Given the description of an element on the screen output the (x, y) to click on. 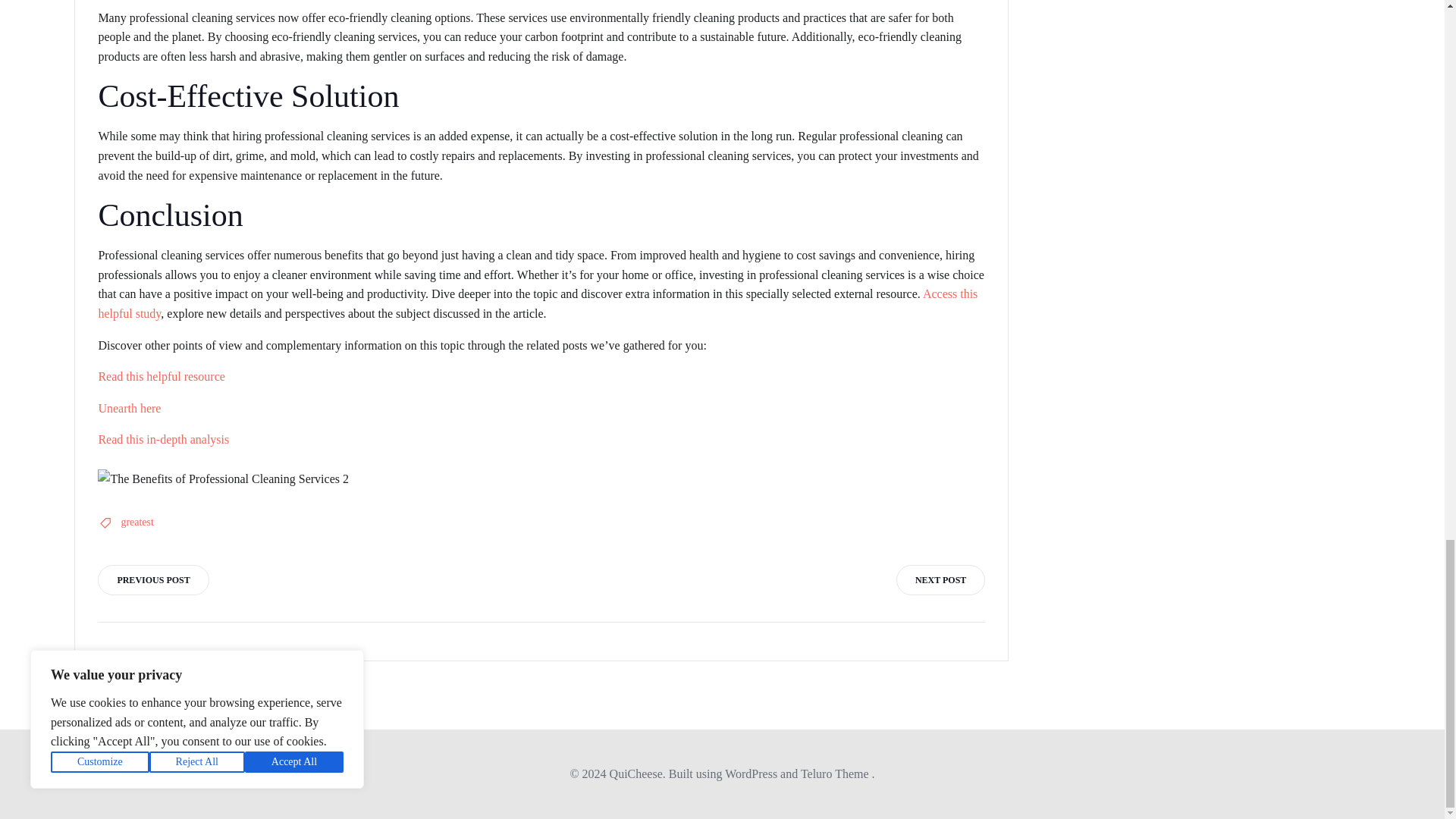
Access this helpful study (536, 303)
Tag: greatest (137, 522)
Unearth here (128, 408)
NEXT POST (940, 580)
PREVIOUS POST (152, 580)
Read this helpful resource (161, 376)
greatest (137, 522)
Read this in-depth analysis (162, 439)
